Given the description of an element on the screen output the (x, y) to click on. 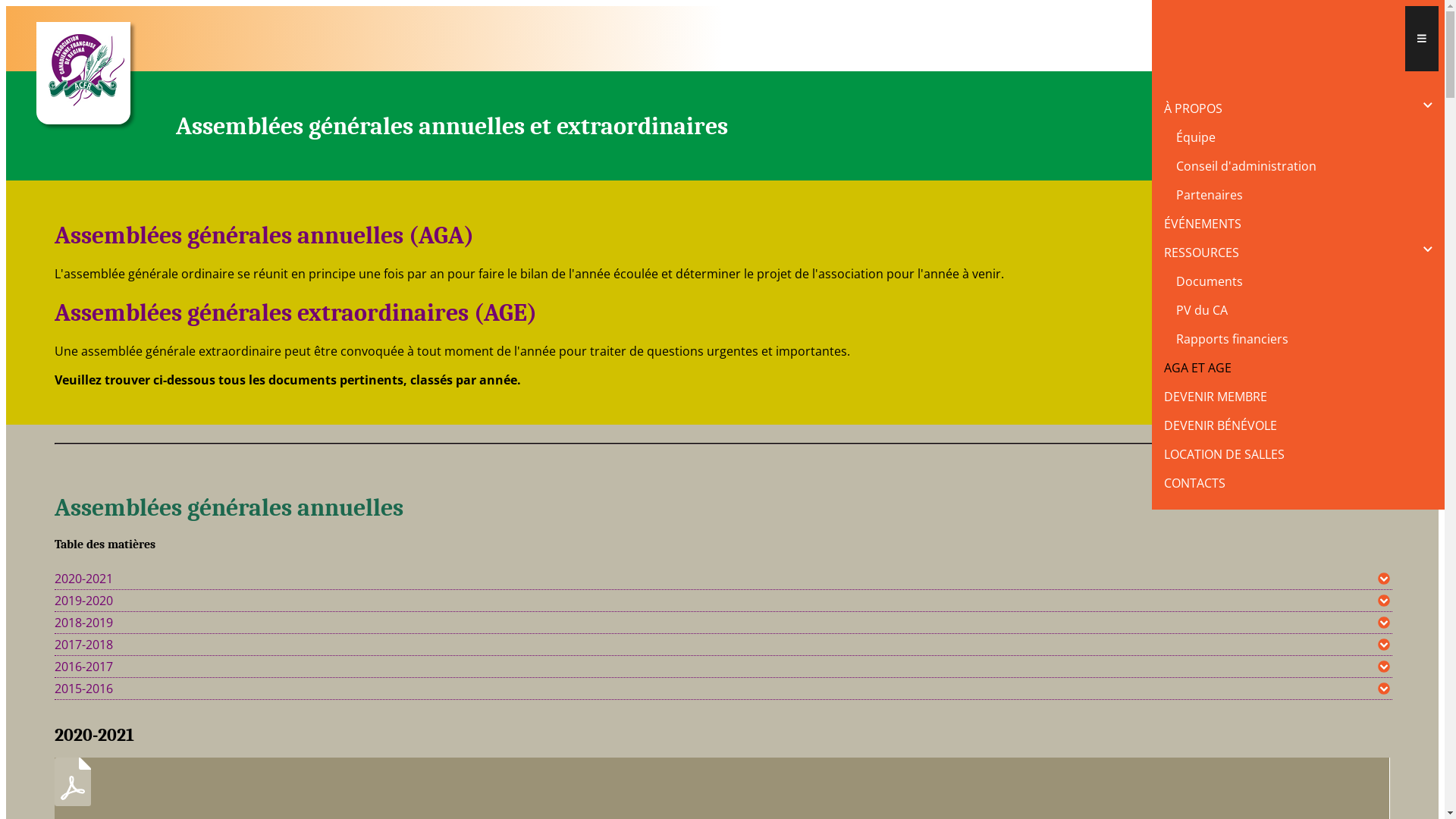
Conseil d'administration Element type: text (1304, 165)
Documents Element type: text (1304, 280)
2020-2021 Element type: text (723, 578)
PV du CA Element type: text (1304, 309)
Menu Element type: text (1421, 38)
pdf Element type: text (72, 795)
RESSOURCES Element type: text (1281, 252)
2016-2017 Element type: text (723, 666)
Top Element type: text (1377, 472)
Rapports financiers Element type: text (1304, 338)
2015-2016 Element type: text (723, 688)
DEVENIR MEMBRE Element type: text (1297, 396)
LOCATION DE SALLES Element type: text (1297, 453)
AGA ET AGE Element type: text (1297, 367)
2019-2020 Element type: text (723, 600)
2017-2018 Element type: text (723, 644)
Toggle sub-menu Element type: text (1427, 249)
CONTACTS Element type: text (1297, 482)
Partenaires Element type: text (1304, 194)
Toggle sub-menu Element type: text (1427, 105)
2018-2019 Element type: text (723, 622)
